Given the description of an element on the screen output the (x, y) to click on. 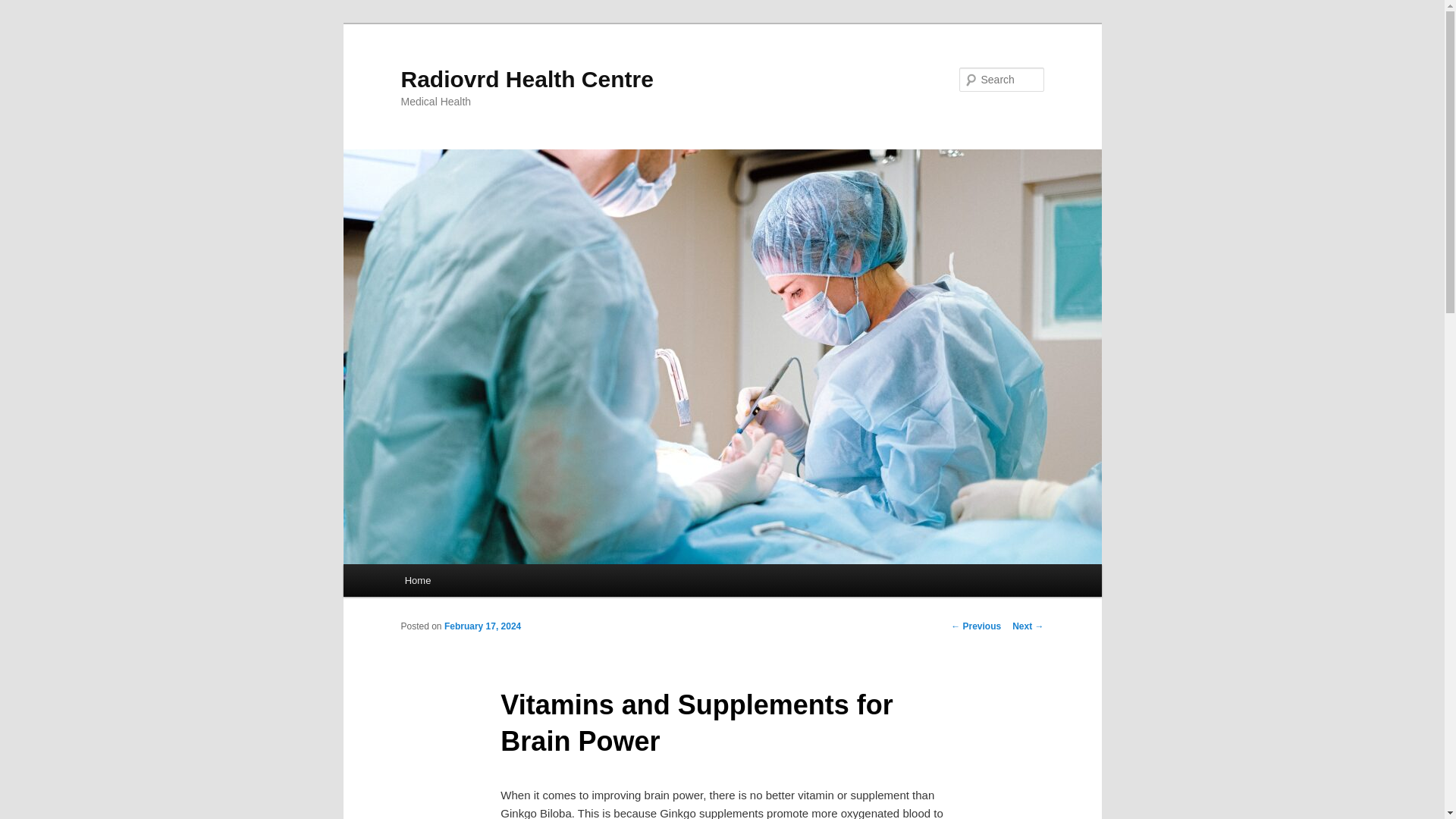
Home (417, 580)
Radiovrd Health Centre (526, 78)
Search (24, 8)
February 17, 2024 (482, 625)
1:27 am (482, 625)
